Given the description of an element on the screen output the (x, y) to click on. 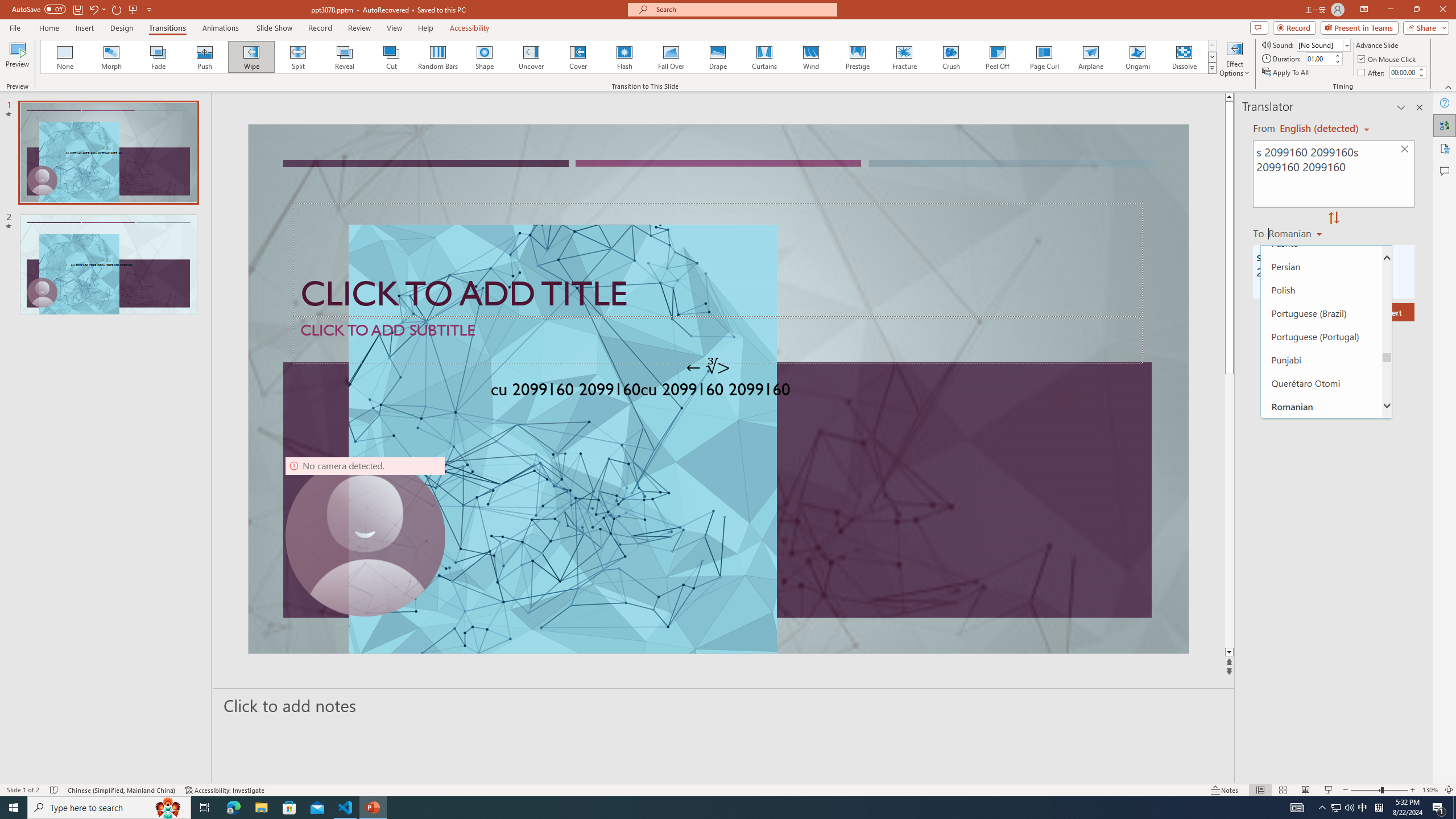
Close (Ctrl+F4) (675, 183)
wangyian_webcrawler - DSW (23, 249)
Accounts - Sign in requested (76, 690)
644553698@qq.com (1295, 382)
main.py (751, 183)
Application Menu (76, 183)
